Given the description of an element on the screen output the (x, y) to click on. 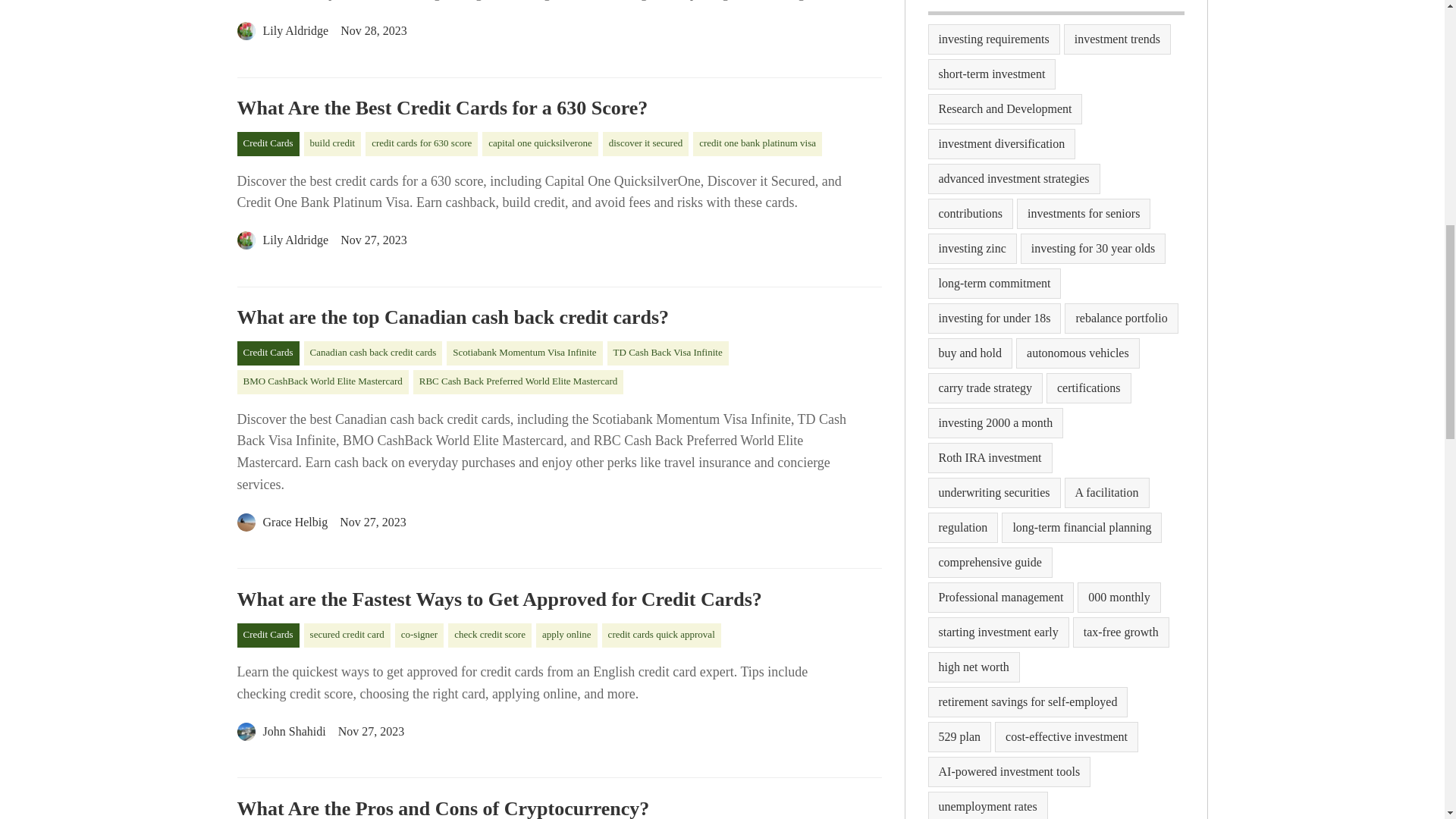
credit cards for 630 score (421, 143)
Credit Cards (266, 143)
What Are the Best Credit Cards for a 630 Score? (557, 108)
Lily Aldridge (282, 31)
build credit (332, 143)
